Given the description of an element on the screen output the (x, y) to click on. 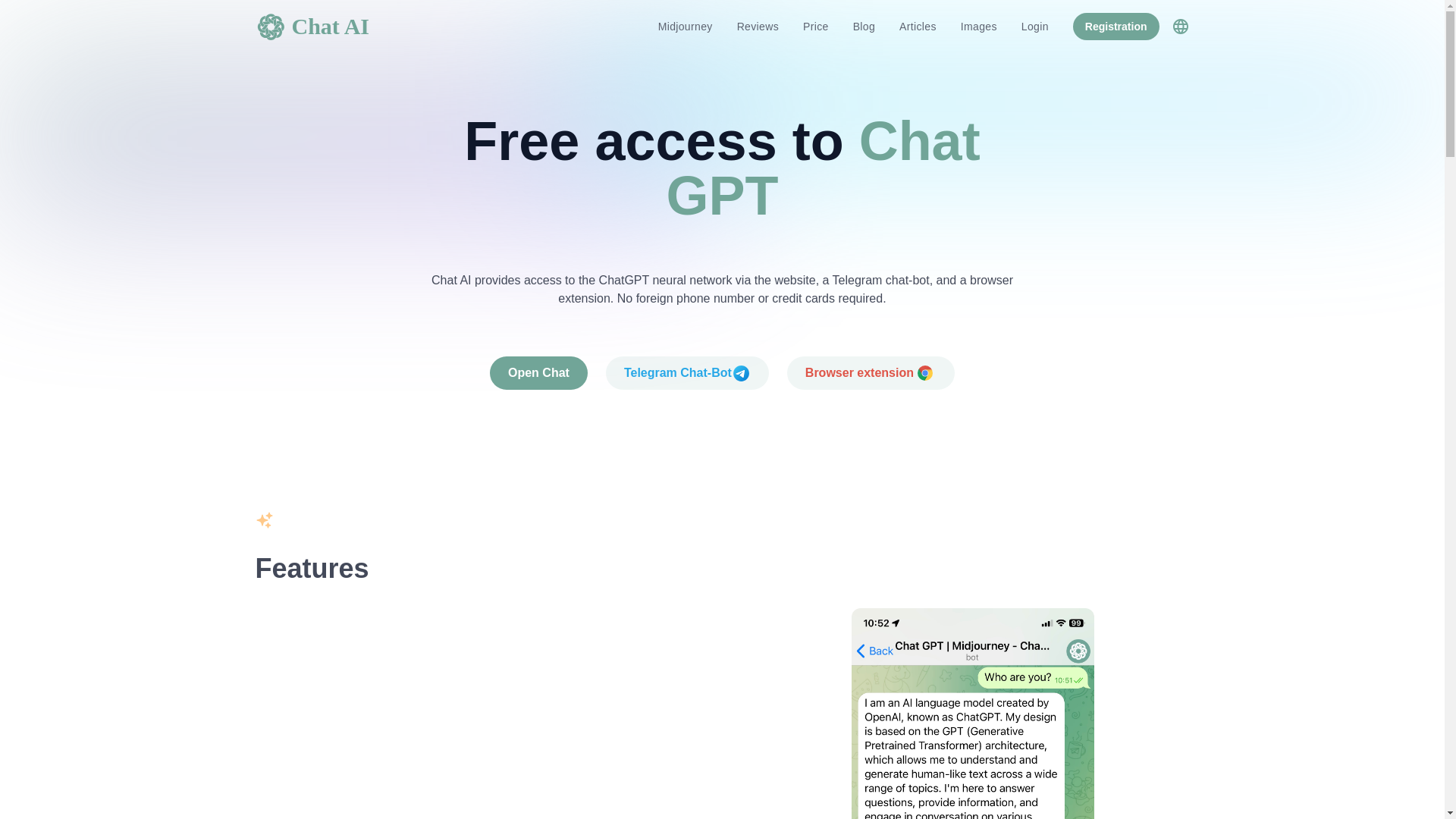
Chat AI (311, 26)
Browser extension (871, 372)
Open Chat (538, 372)
Blog (863, 26)
Reviews (757, 26)
Telegram Chat-Bot (686, 372)
Price (815, 26)
Midjourney (685, 26)
Images (979, 26)
Articles (917, 26)
Registration (1115, 26)
Login (1035, 26)
